Given the description of an element on the screen output the (x, y) to click on. 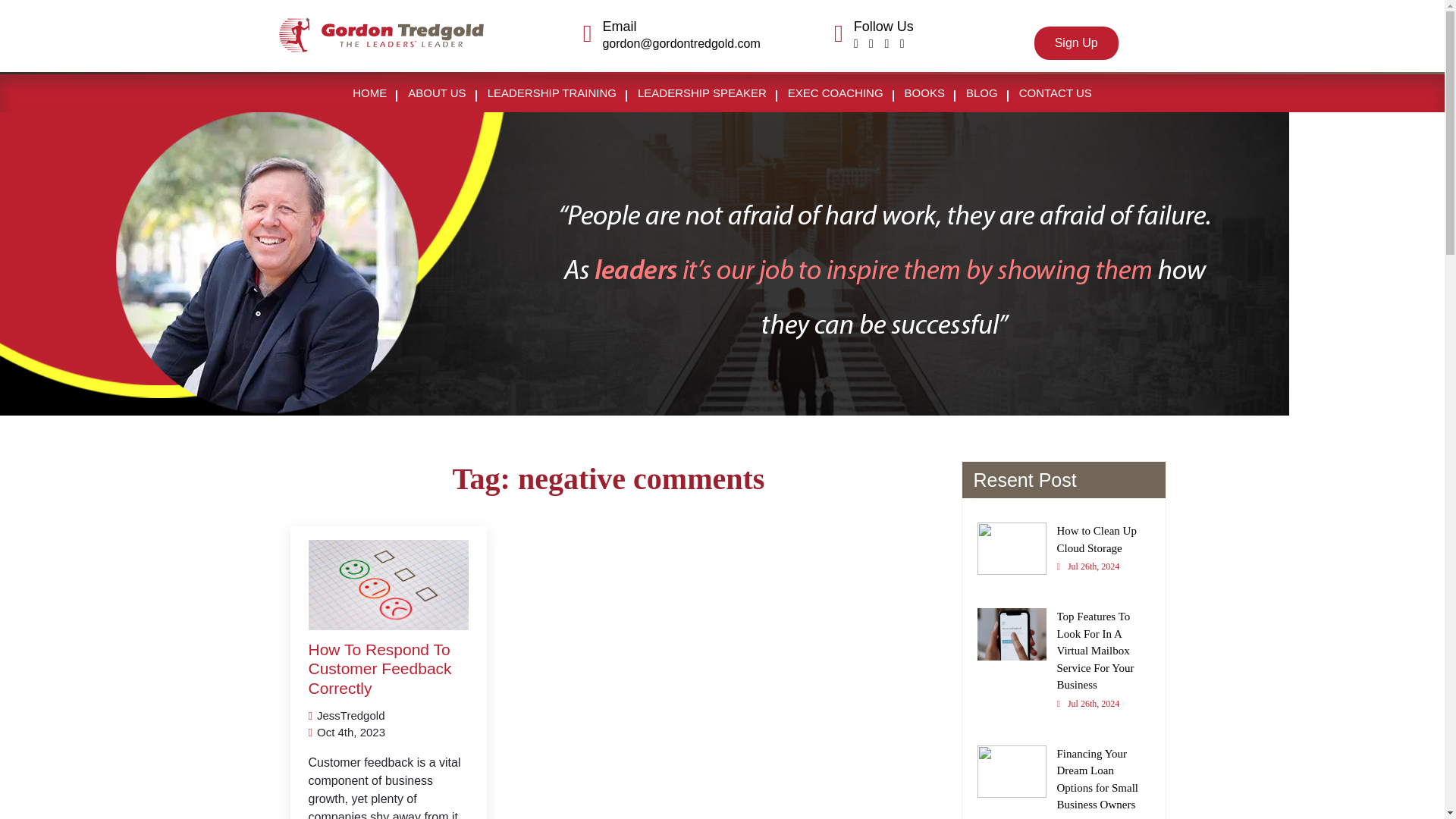
LEADERSHIP SPEAKER (702, 92)
CONTACT US (1055, 92)
LEADERSHIP TRAINING (1063, 553)
Sign Up (552, 92)
EXEC COACHING (1075, 42)
How To Respond To Customer Feedback Correctly (835, 92)
BOOKS (379, 668)
BLOG (924, 92)
HOME (982, 92)
ABOUT US (369, 92)
